Given the description of an element on the screen output the (x, y) to click on. 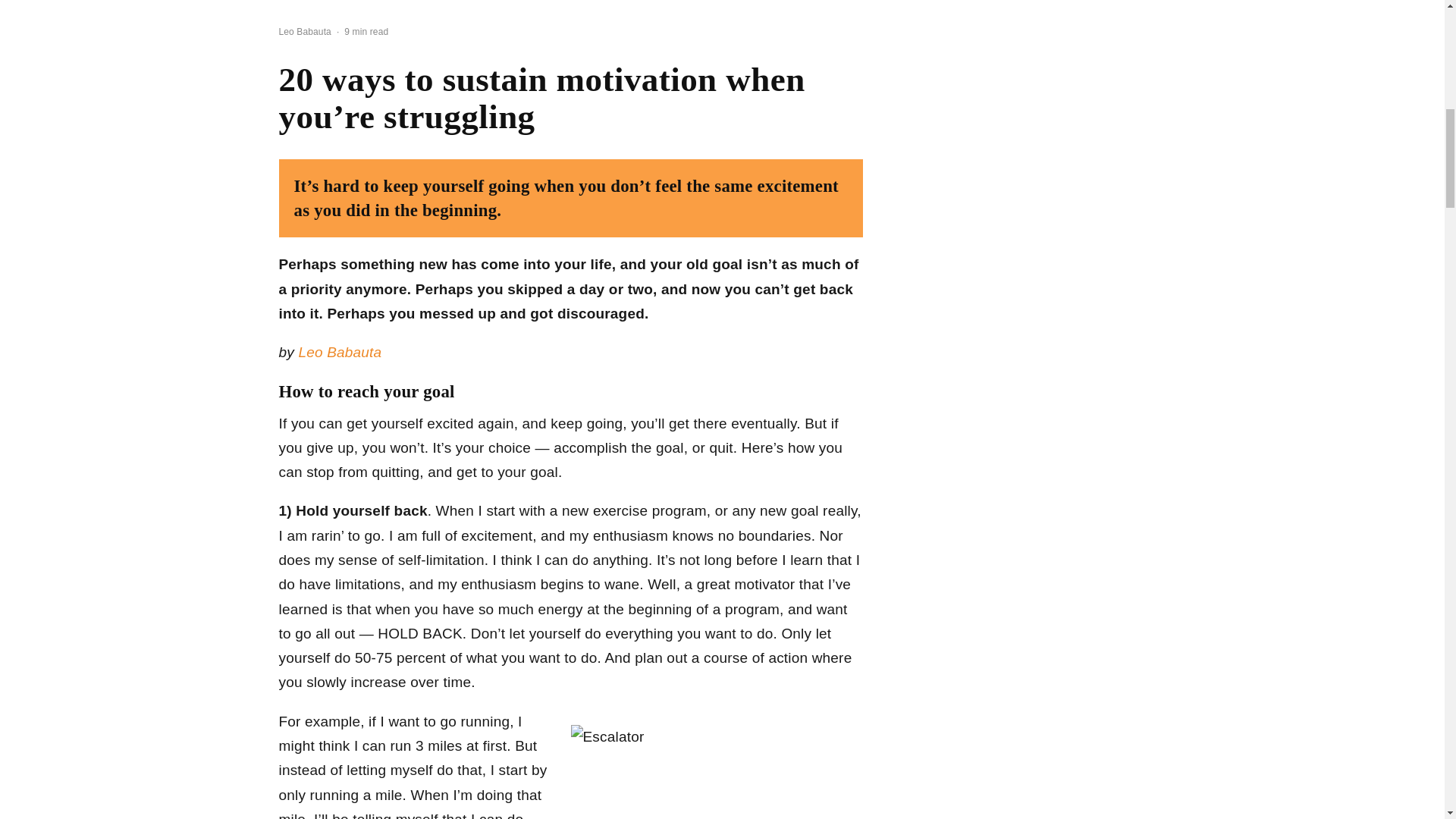
BUSINESS (411, 1)
Leo Babauta (305, 31)
LIVE (348, 1)
Leo Babauta (339, 351)
ENTREPRENEURS (511, 1)
HOME (297, 1)
